Given the description of an element on the screen output the (x, y) to click on. 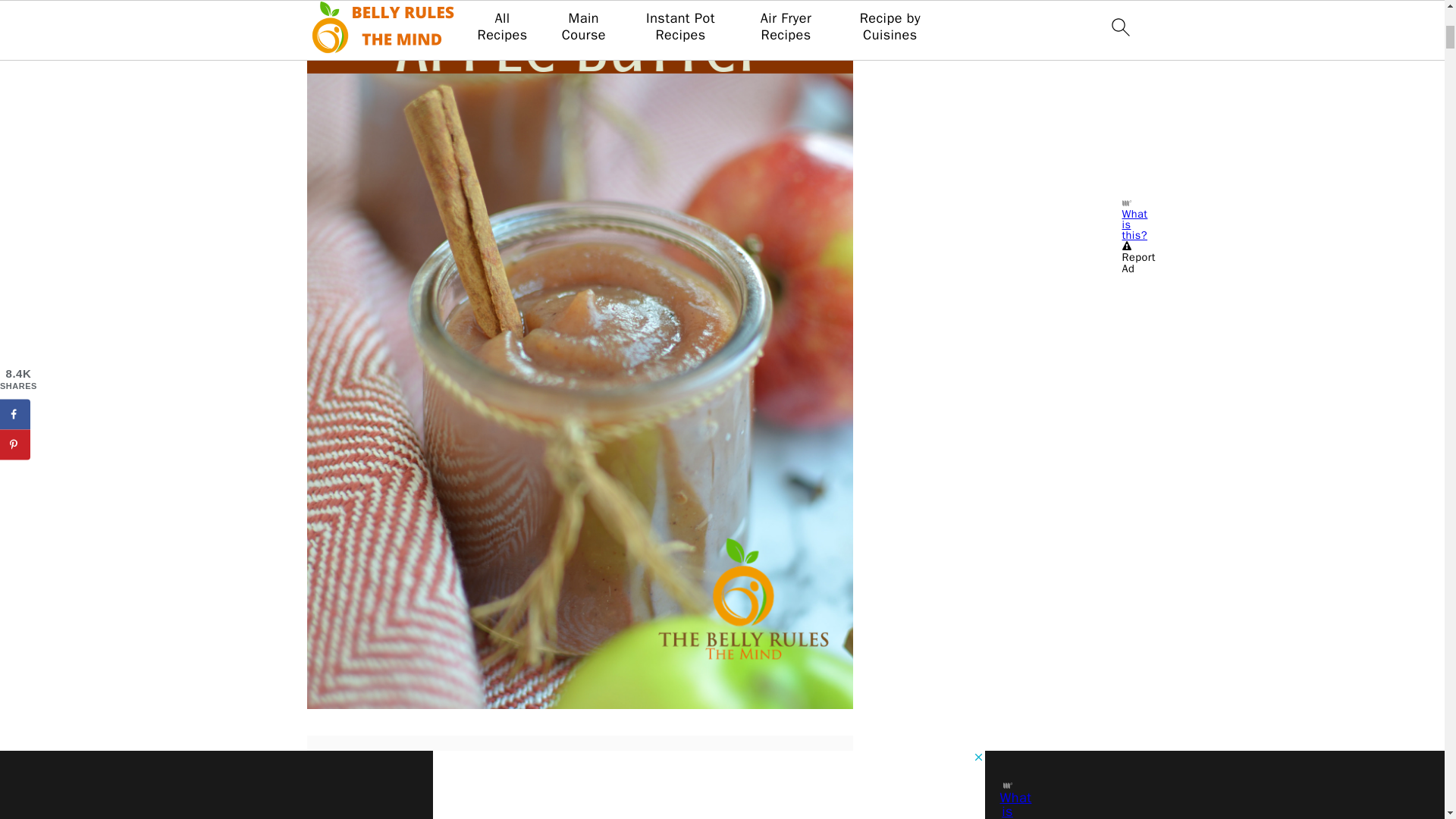
3rd party ad content (579, 777)
